Given the description of an element on the screen output the (x, y) to click on. 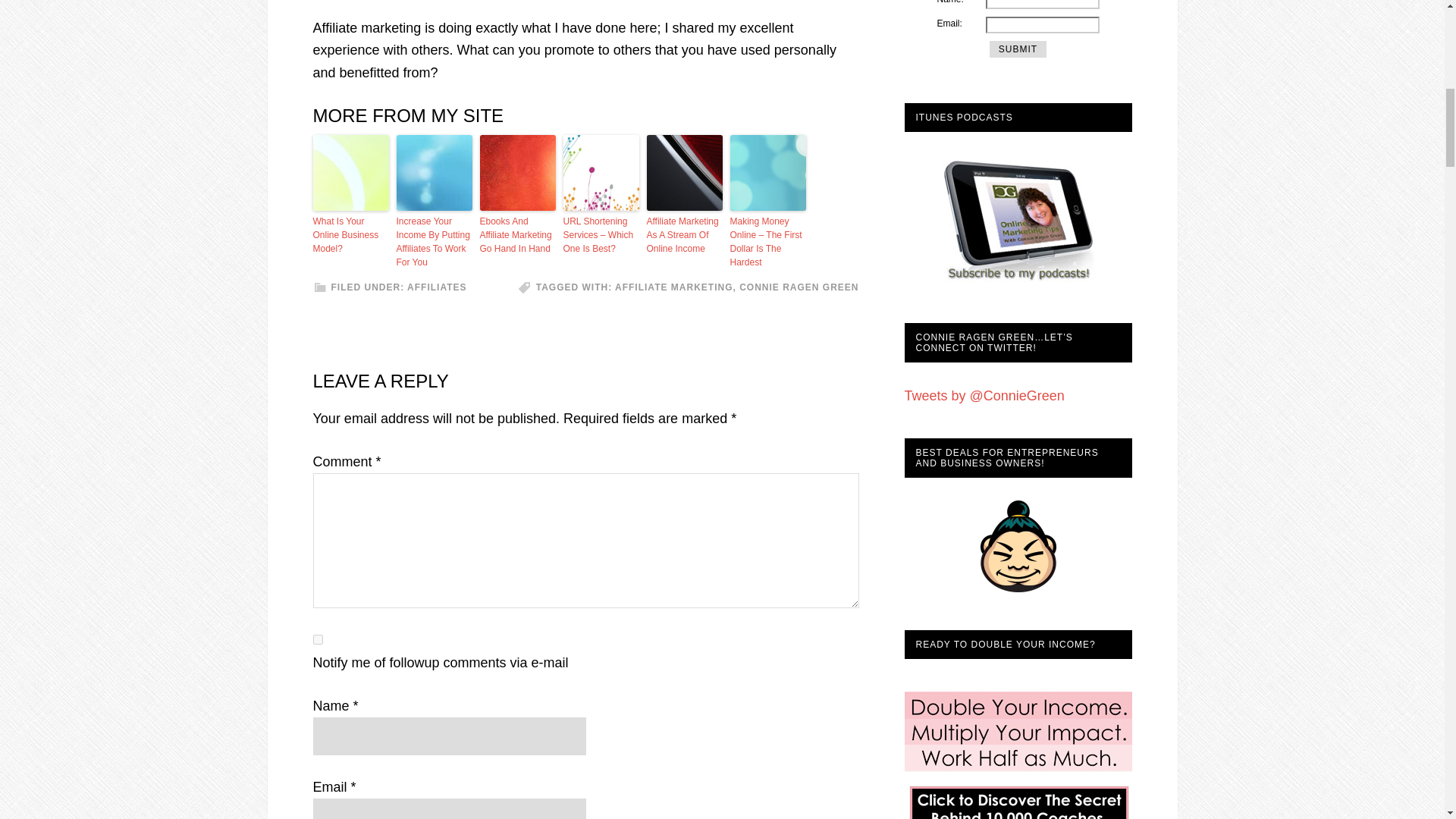
Ebooks And Affiliate Marketing Go Hand In Hand (516, 234)
Increase Your Income By Putting Affiliates To Work For You (433, 241)
What Is Your Online Business Model? (350, 234)
AFFILIATES (436, 286)
Affiliate Marketing As A Stream Of Online Income (684, 234)
subscribe (317, 639)
Submit (1018, 48)
Submit (1018, 48)
AFFILIATE MARKETING (673, 286)
CONNIE RAGEN GREEN (799, 286)
